Given the description of an element on the screen output the (x, y) to click on. 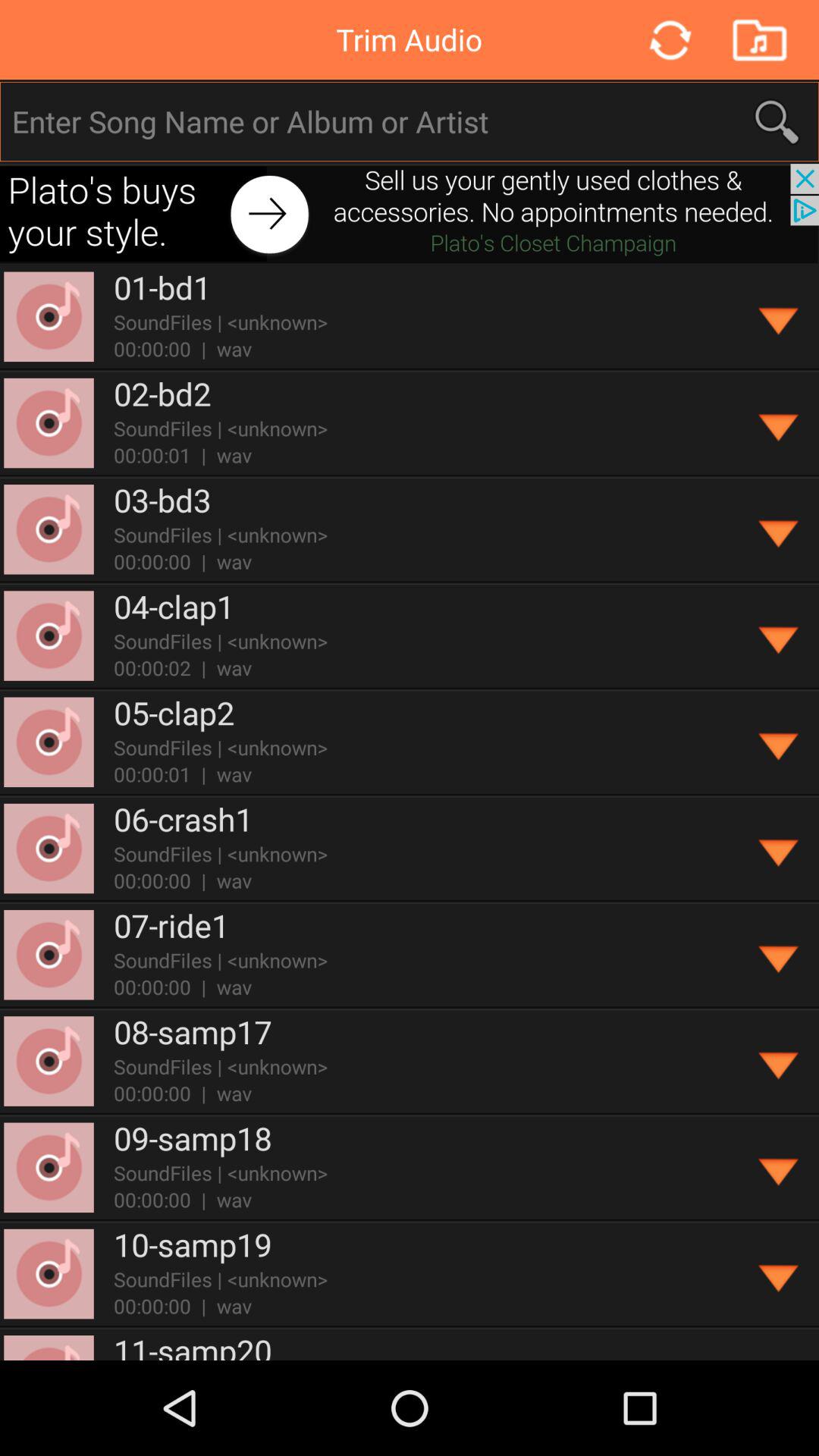
download selection (779, 1273)
